Given the description of an element on the screen output the (x, y) to click on. 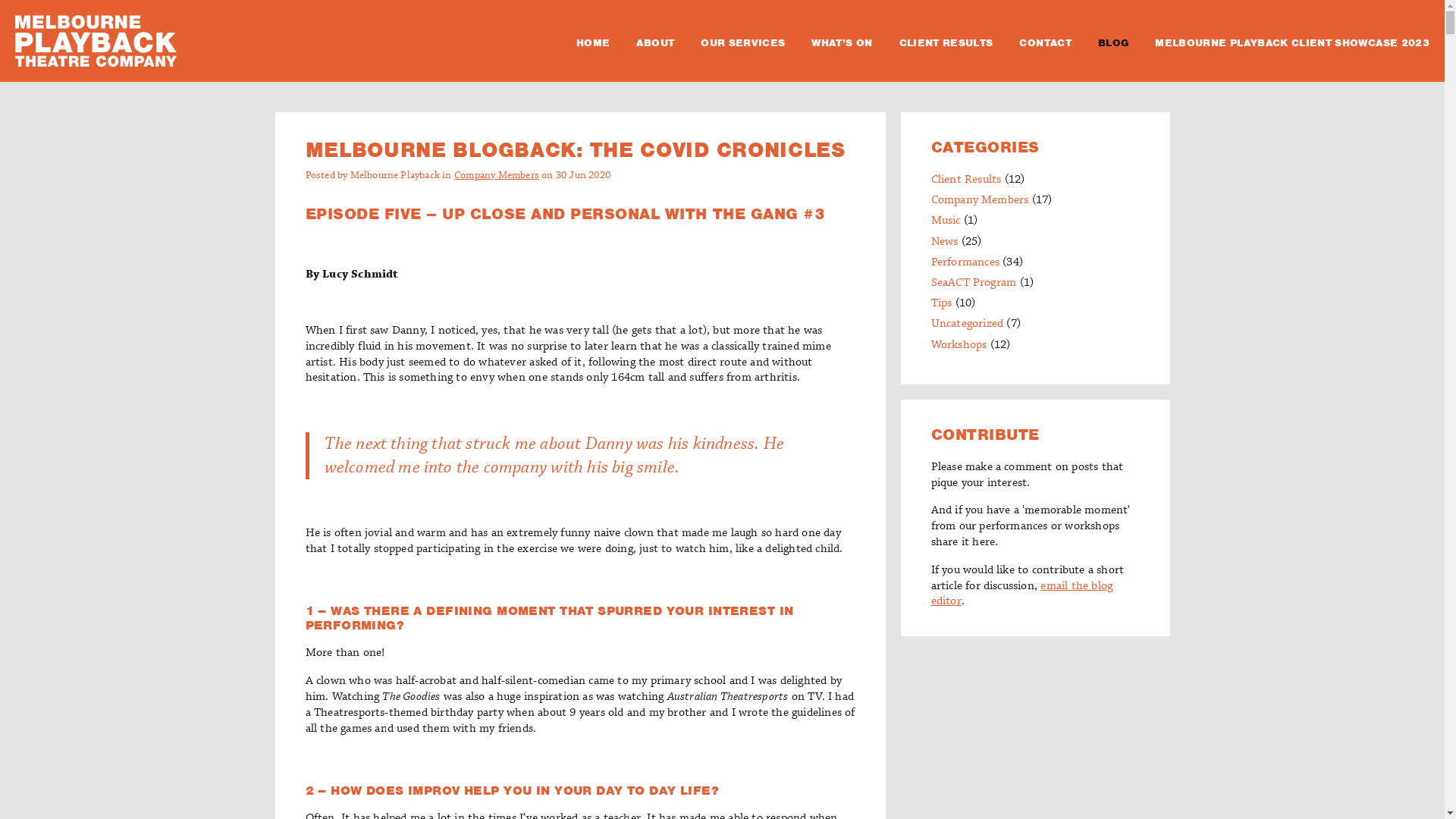
Company Members Element type: text (496, 175)
Performances Element type: text (965, 261)
email the blog editor Element type: text (1022, 593)
MELBOURNE PLAYBACK CLIENT SHOWCASE 2023 Element type: text (1291, 42)
CONTACT Element type: text (1044, 42)
MELBOURNE BLOGBACK: THE COVID CRONICLES Element type: text (574, 150)
SeaACT Program Element type: text (973, 282)
Client Results Element type: text (966, 179)
CLIENT RESULTS Element type: text (946, 42)
ABOUT Element type: text (655, 42)
HOME Element type: text (592, 42)
OUR SERVICES Element type: text (742, 42)
BLOG Element type: text (1113, 42)
News Element type: text (944, 241)
Uncategorized Element type: text (967, 323)
Tips Element type: text (941, 302)
Workshops Element type: text (959, 344)
Company Members Element type: text (980, 199)
Music Element type: text (945, 220)
Melbourne Playback Theatre Company Element type: text (95, 40)
